Given the description of an element on the screen output the (x, y) to click on. 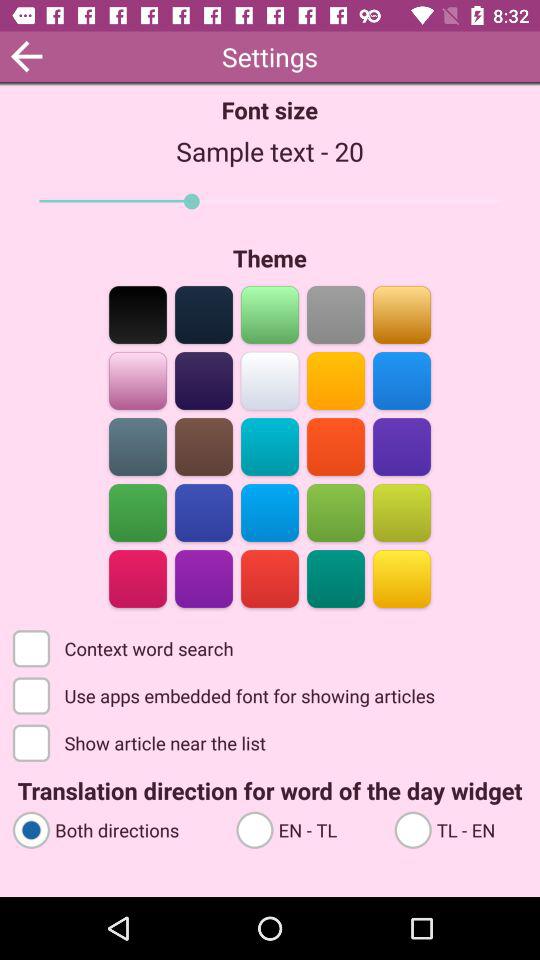
choose green theme (137, 511)
